Given the description of an element on the screen output the (x, y) to click on. 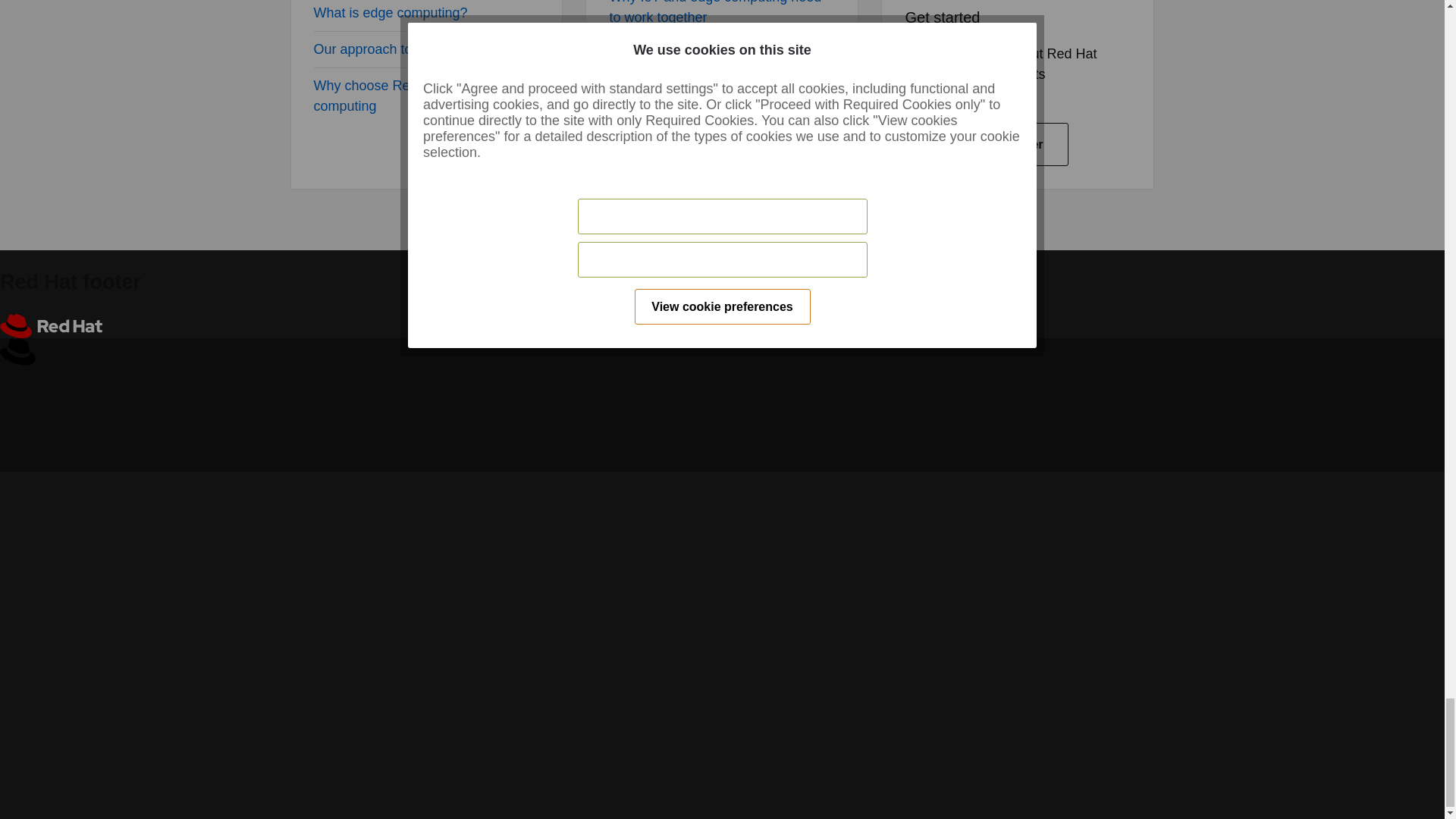
Understanding 5G networks (692, 110)
What is edge computing? (390, 12)
Contact Red Hat (985, 144)
Red Hat's approach to Edge computing (413, 48)
Understanding edge computing for telecommunications (713, 63)
Understanding open banking (695, 147)
Why IoT and edge computing need to work together (714, 12)
Why choose Red Hat for edge computing? (405, 95)
